Given the description of an element on the screen output the (x, y) to click on. 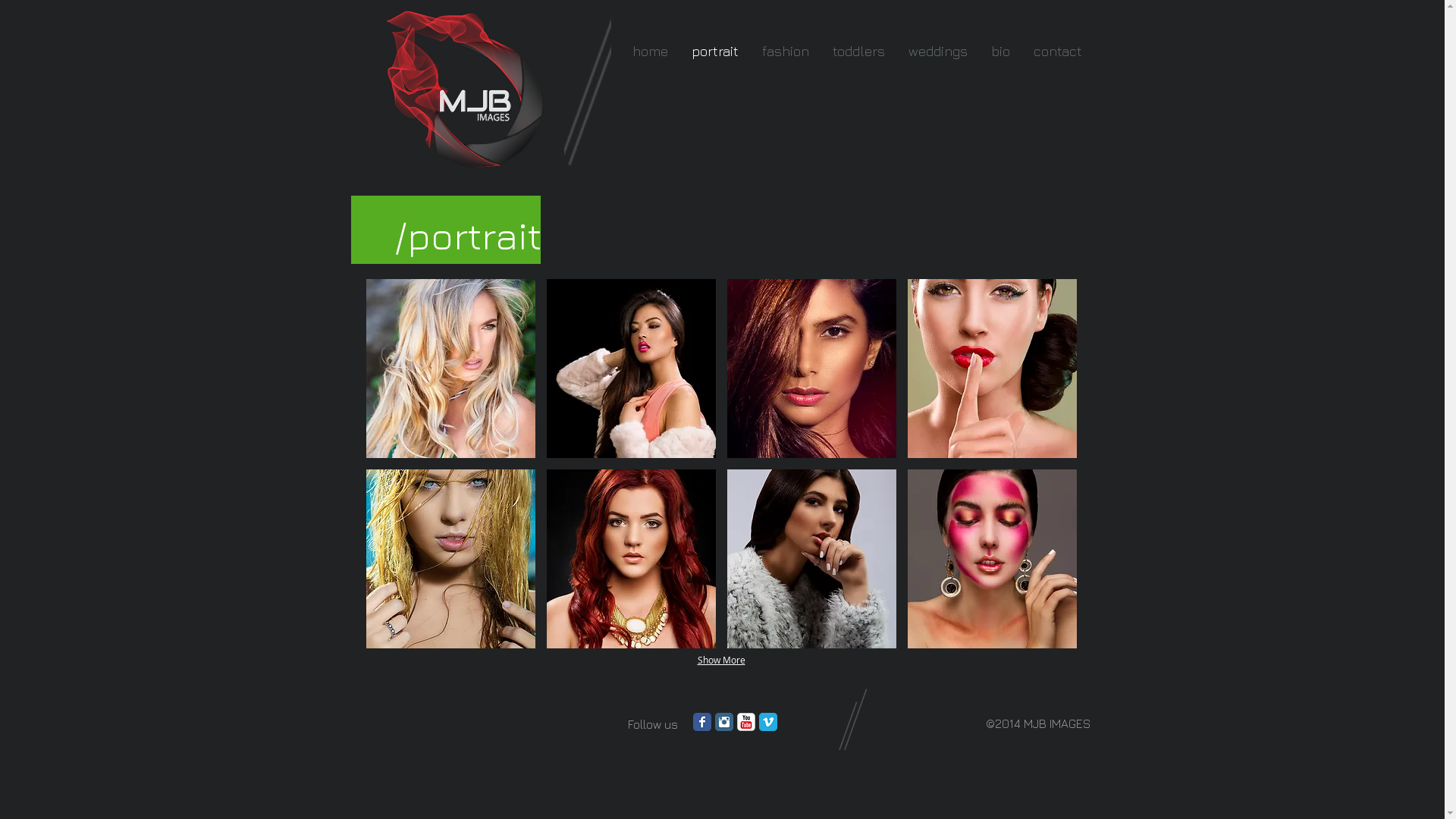
contact Element type: text (1056, 50)
fashion Element type: text (784, 50)
Show More Element type: text (721, 660)
home Element type: text (648, 50)
toddlers Element type: text (858, 50)
weddings Element type: text (937, 50)
portrait Element type: text (714, 50)
bio Element type: text (999, 50)
